Given the description of an element on the screen output the (x, y) to click on. 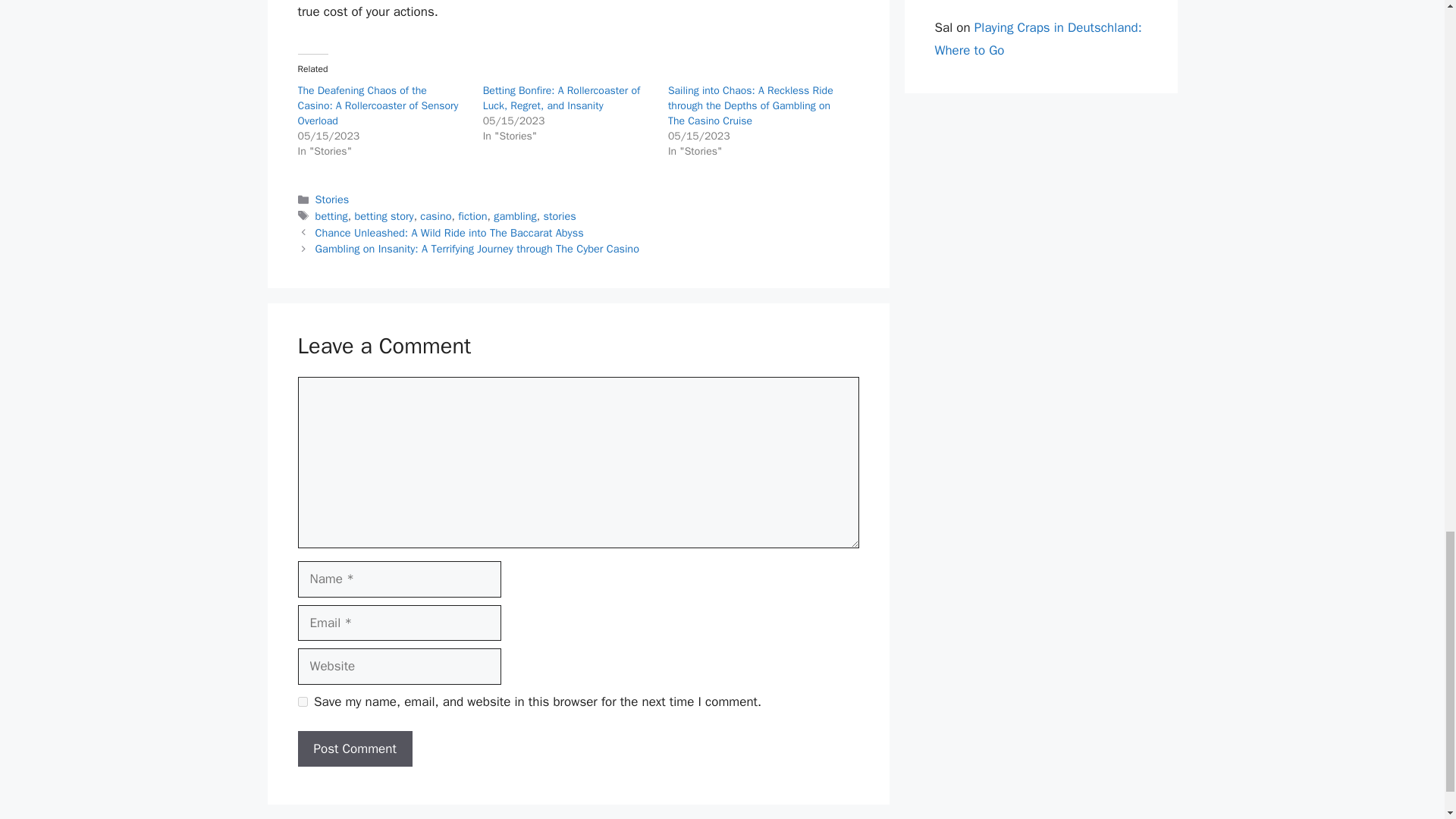
Chance Unleashed: A Wild Ride into The Baccarat Abyss (449, 232)
gambling (515, 215)
stories (559, 215)
betting story (384, 215)
betting (331, 215)
Stories (332, 199)
